Given the description of an element on the screen output the (x, y) to click on. 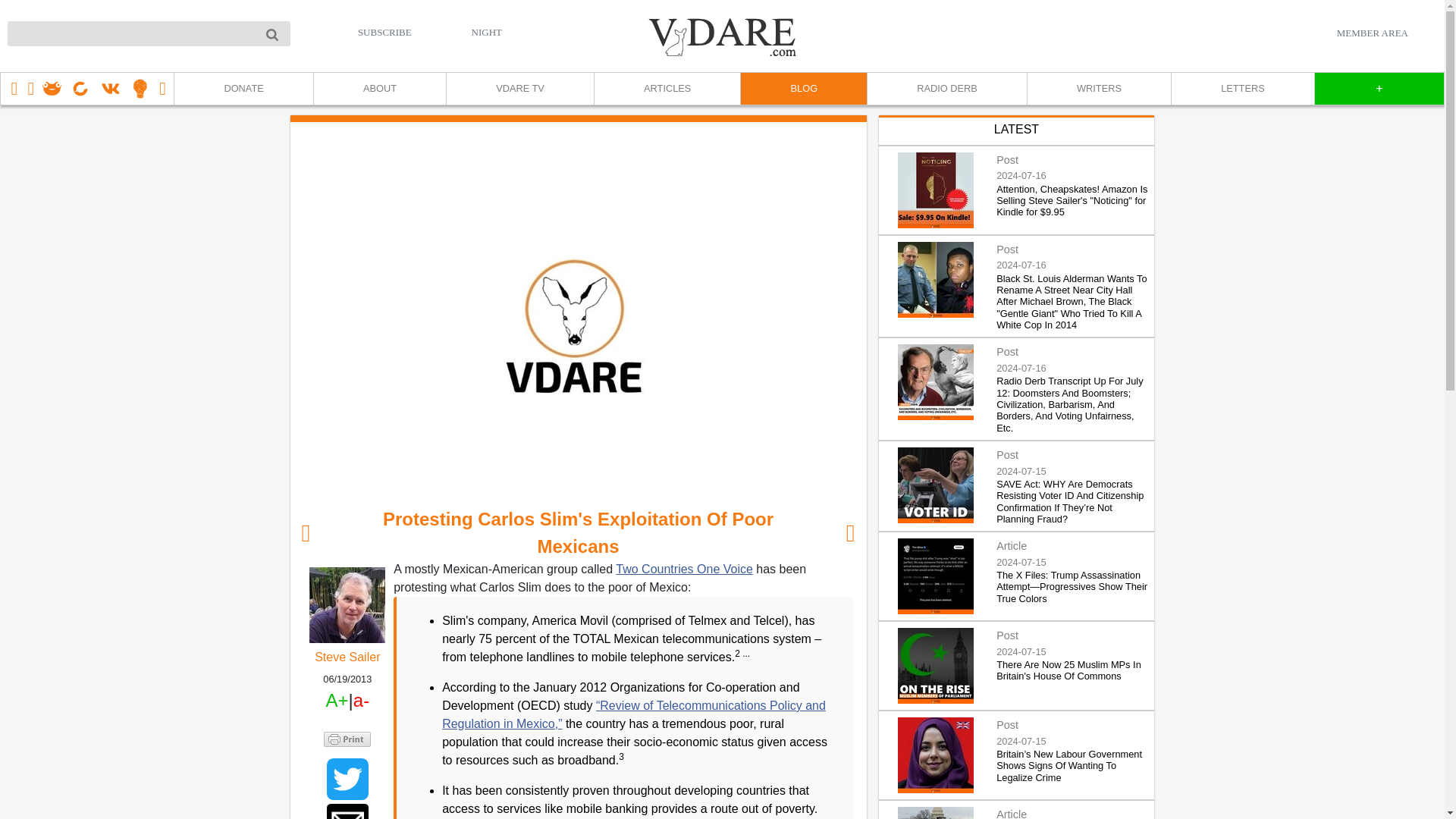
BLOG (802, 88)
RADIO DERB (946, 88)
SUBSCRIBE (385, 31)
LETTERS (1242, 88)
Printer Friendly and PDF (347, 737)
Share to Email (347, 811)
Share to Twitter (347, 779)
ARTICLES (666, 88)
VDARE TV (519, 88)
WRITERS (1098, 88)
DONATE (243, 88)
MEMBER AREA (1371, 32)
ABOUT (379, 88)
